Given the description of an element on the screen output the (x, y) to click on. 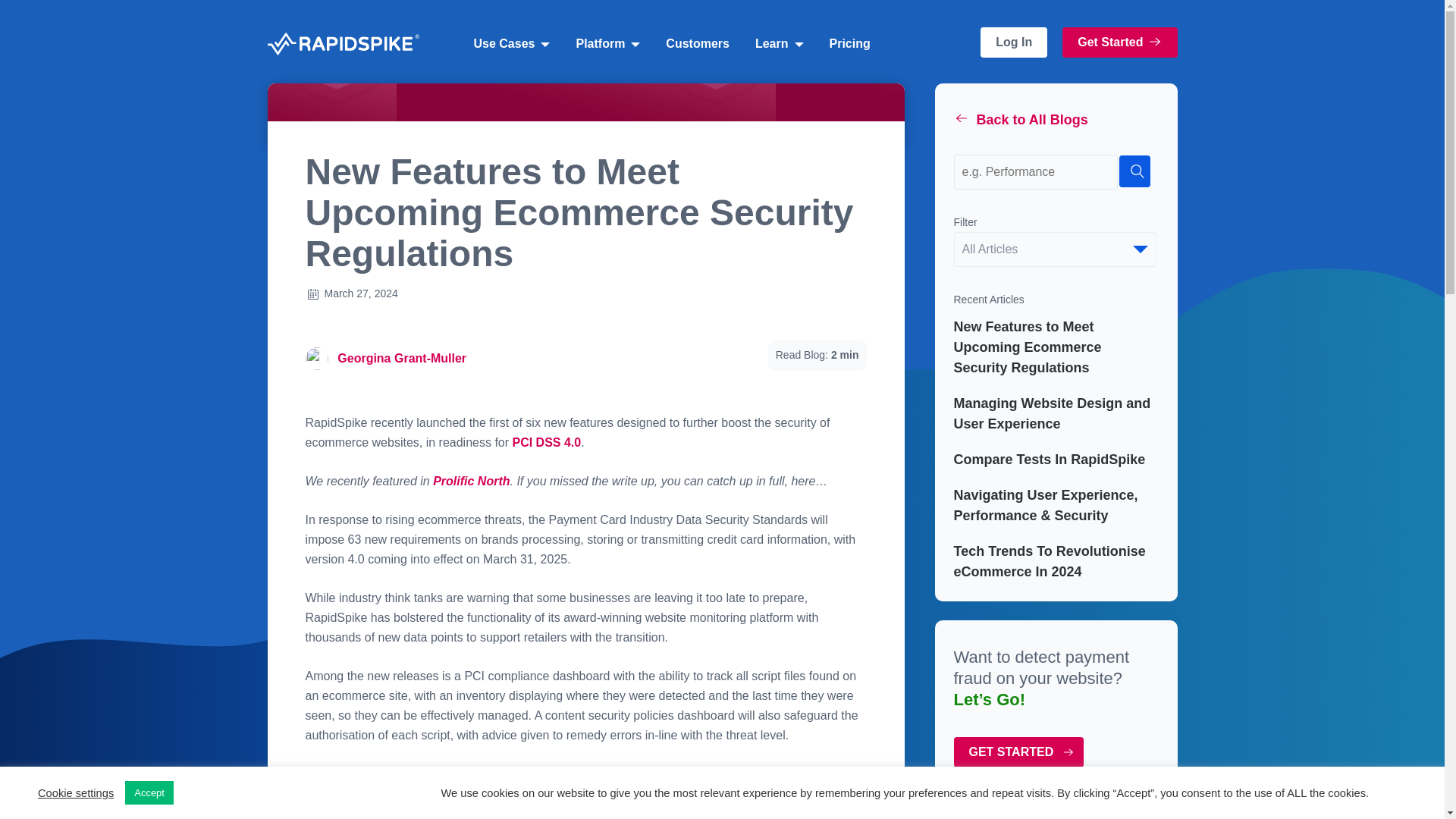
Learn (778, 43)
Posts by Georgina Grant-Muller (401, 358)
Platform (607, 43)
Customers (697, 43)
Chatbot (1383, 758)
Use Cases (511, 43)
